Given the description of an element on the screen output the (x, y) to click on. 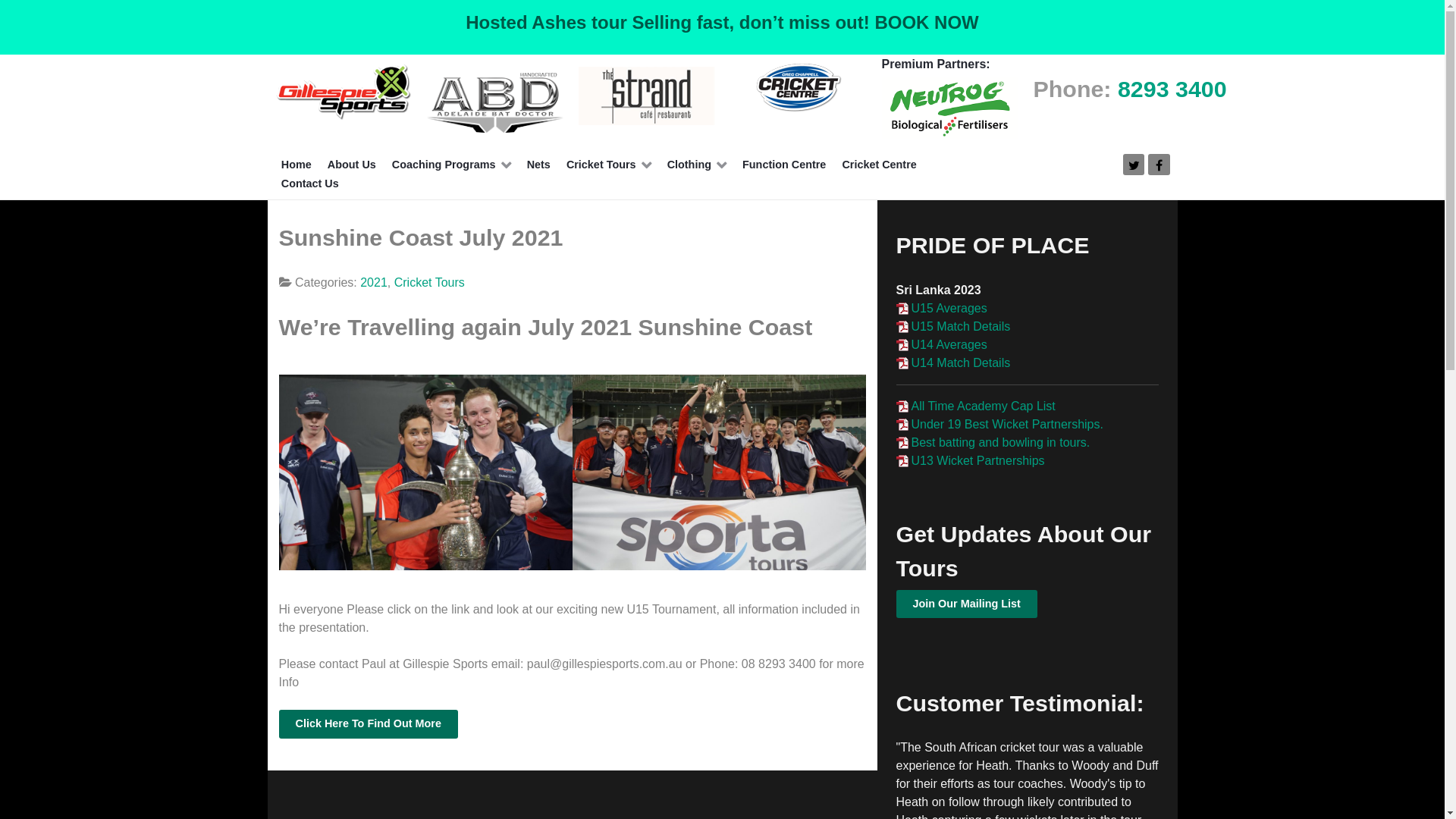
Contact Us Element type: text (309, 183)
Coaching Programs Element type: text (450, 164)
Clothing Element type: text (696, 164)
U15 Averages Element type: text (941, 307)
Join Our Mailing List Element type: text (966, 603)
Home Element type: text (295, 164)
Function Centre Element type: text (784, 164)
U14 Match Details Element type: text (953, 362)
Cricket Tours Element type: text (429, 282)
Cricket Centre Element type: text (879, 164)
Cricket Tours Element type: text (608, 164)
Under 19 Best Wicket Partnerships. Element type: text (999, 423)
Nets Element type: text (537, 164)
2021 Element type: text (373, 282)
All Time Academy Cap List Element type: text (975, 405)
U13 Wicket Partnerships Element type: text (970, 460)
Gillespie Sports Element type: hover (342, 90)
About Us Element type: text (351, 164)
Best batting and bowling in tours. Element type: text (993, 442)
U14 Averages Element type: text (941, 344)
Proudly supported by Adelaide Bat Doctor Element type: hover (494, 99)
Click Here To Find Out More Element type: text (368, 723)
8293 3400 Element type: text (1171, 88)
U15 Match Details Element type: text (953, 326)
